Given the description of an element on the screen output the (x, y) to click on. 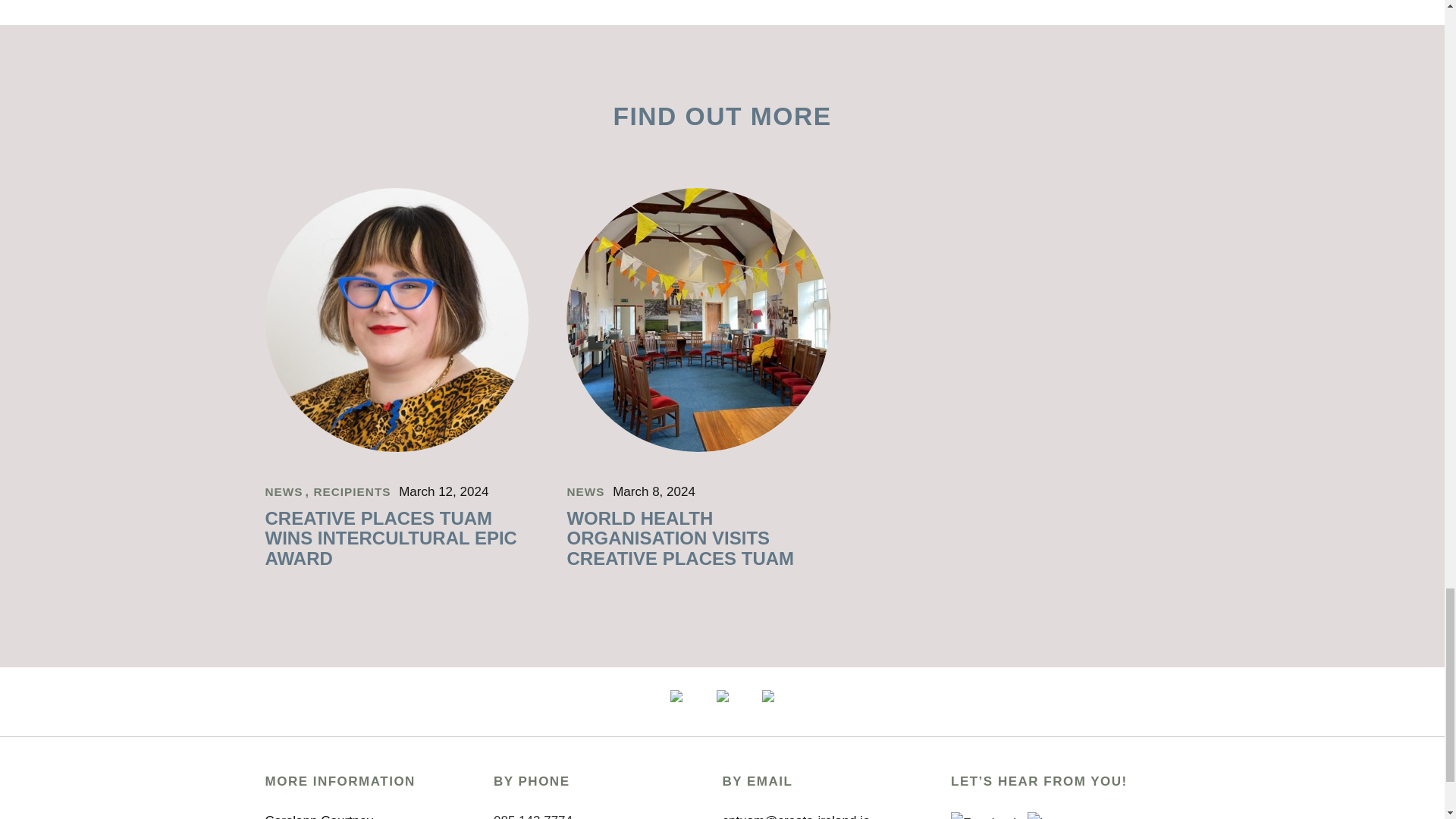
Creative Places Tuam wins Intercultural EPIC award (390, 537)
World Health Organisation visits Creative Places Tuam (679, 537)
CREATIVE PLACES TUAM WINS INTERCULTURAL EPIC AWARD (390, 537)
WORLD HEALTH ORGANISATION VISITS CREATIVE PLACES TUAM (679, 537)
Creative Places Tuam wins Intercultural EPIC award (396, 447)
NEWS (284, 491)
RECIPIENTS (353, 491)
NEWS (586, 491)
World Health Organisation visits Creative Places Tuam (697, 447)
